Given the description of an element on the screen output the (x, y) to click on. 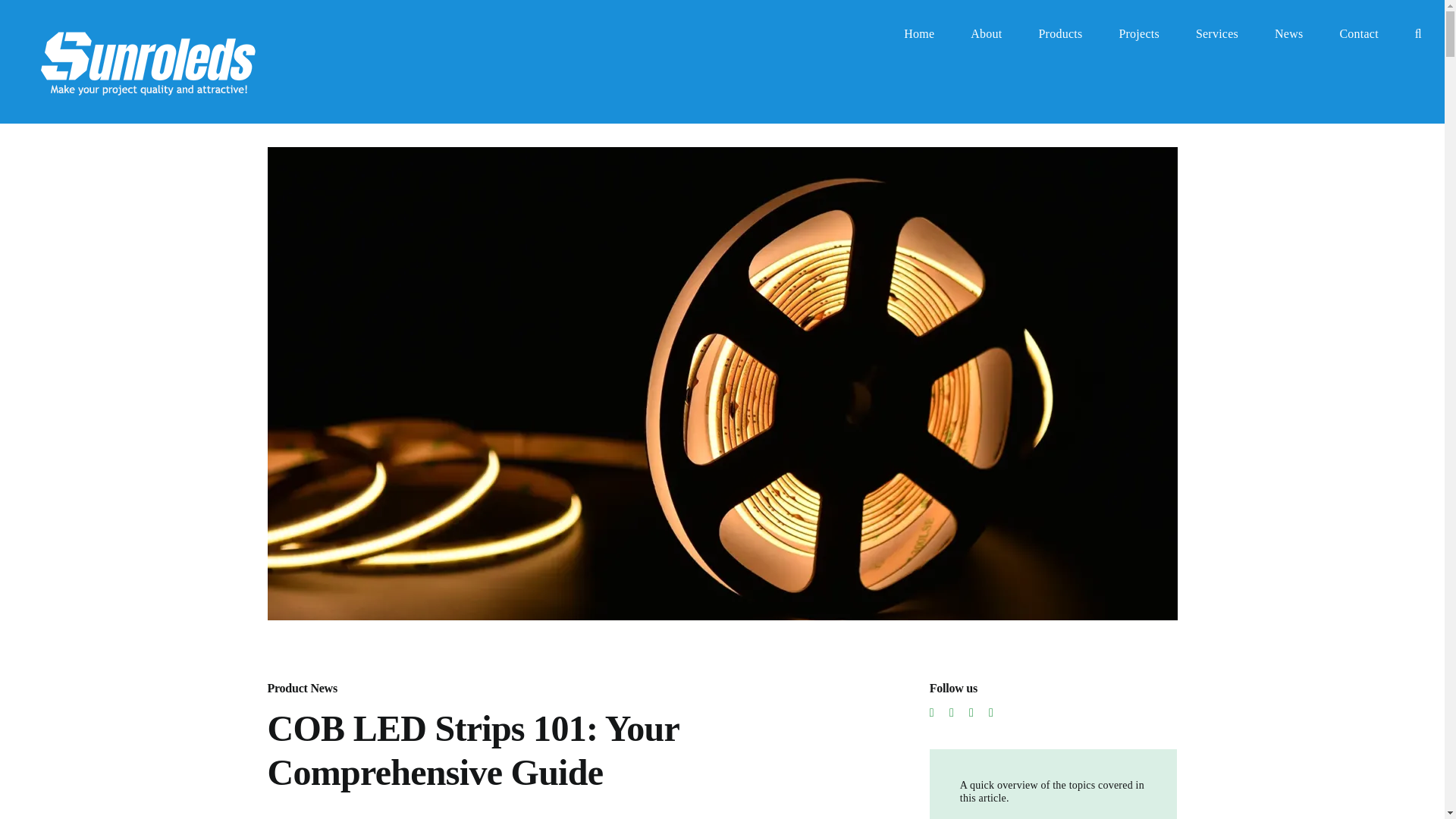
Product News (301, 687)
Product News (301, 687)
